Given the description of an element on the screen output the (x, y) to click on. 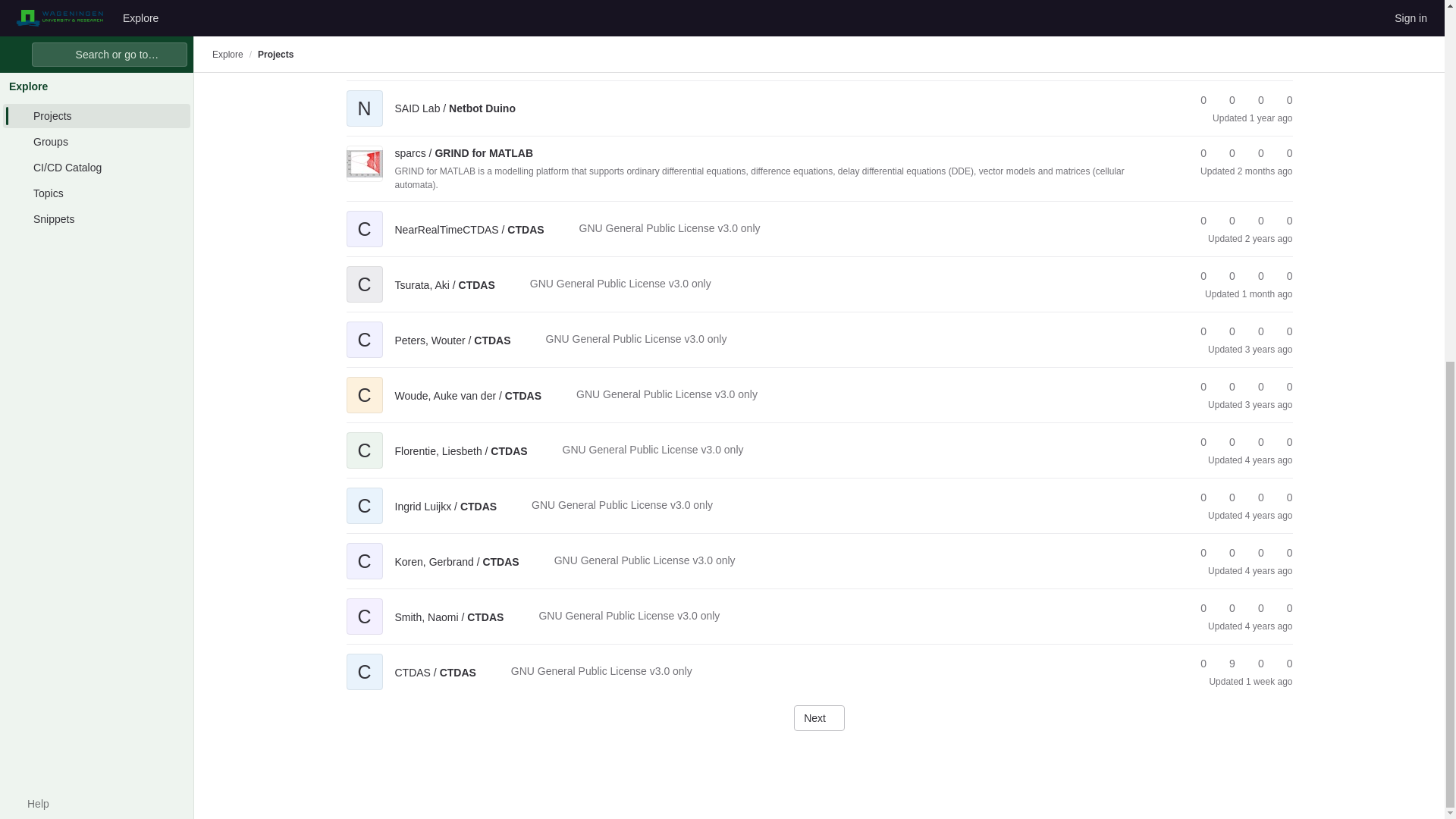
Help (30, 161)
